Given the description of an element on the screen output the (x, y) to click on. 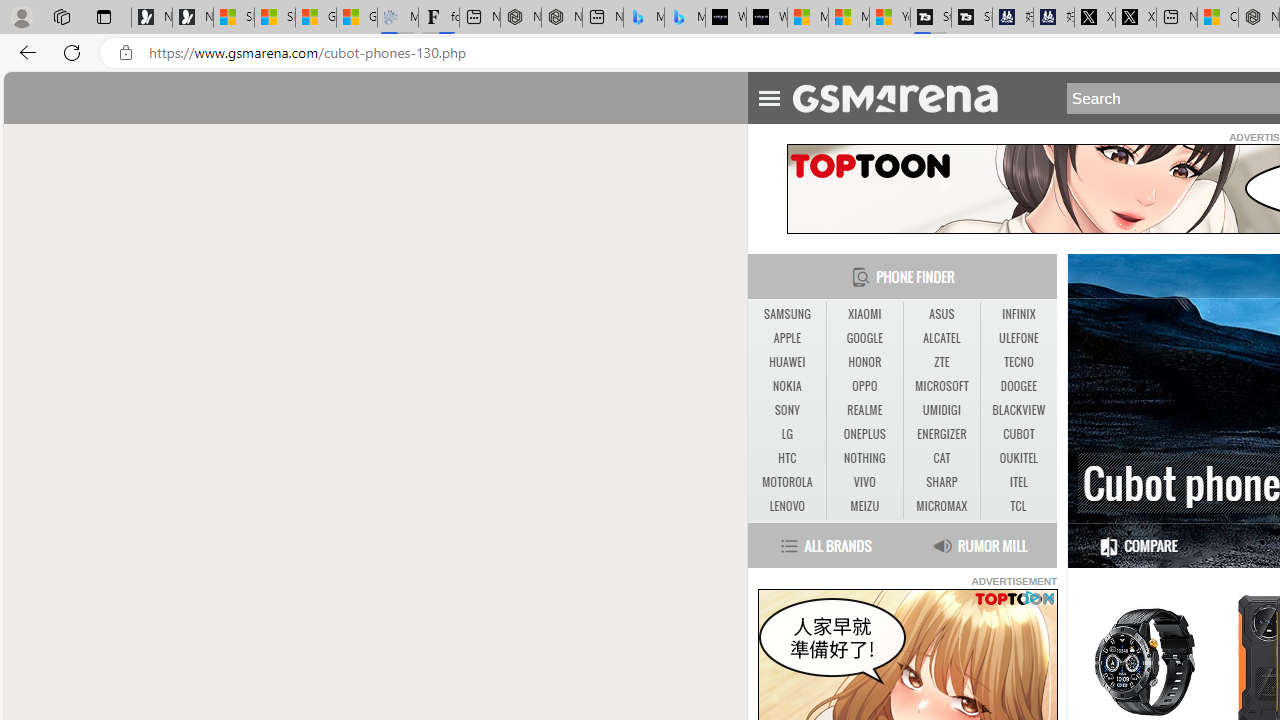
BLACKVIEW (1018, 411)
OPPO (864, 386)
MEIZU (863, 506)
ITEL (1018, 483)
VIVO (864, 483)
LG (786, 434)
UMIDIGI (941, 410)
SHARP (941, 482)
REALME (863, 410)
LENOVO (786, 506)
ALCATEL (941, 338)
MICROMAX (941, 506)
